Given the description of an element on the screen output the (x, y) to click on. 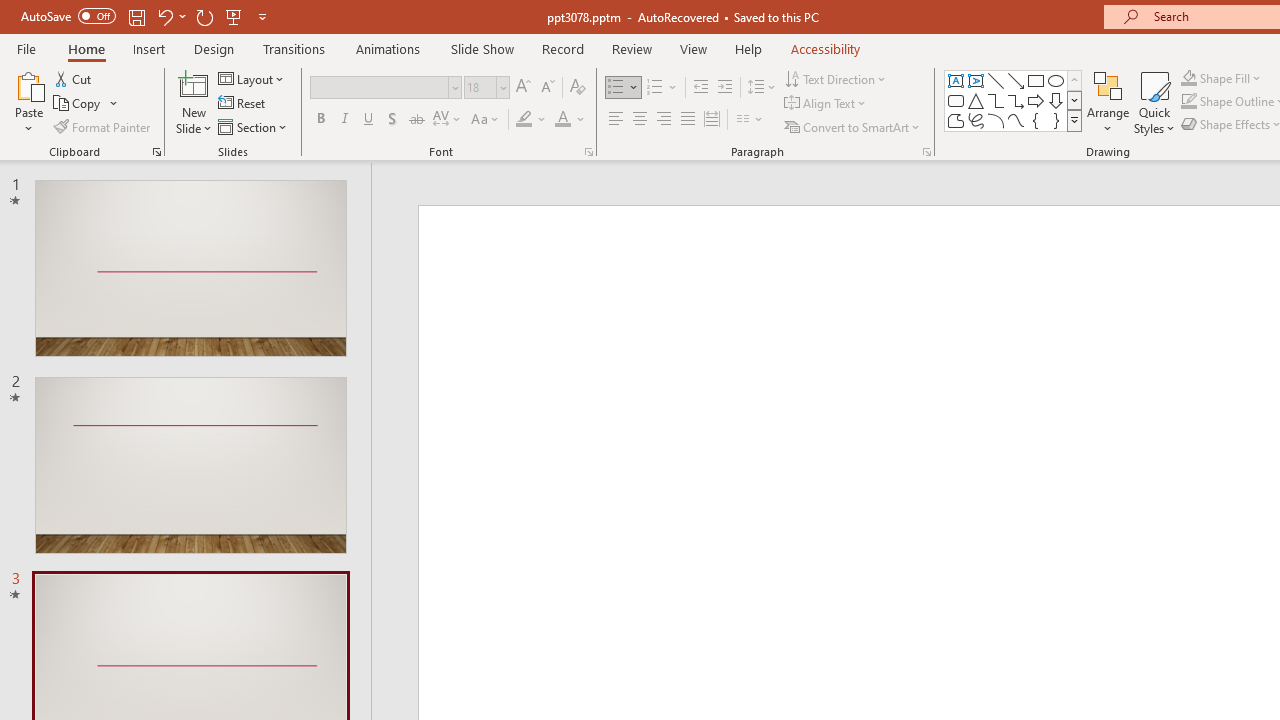
Shape Outline Green, Accent 1 (1188, 101)
